Given the description of an element on the screen output the (x, y) to click on. 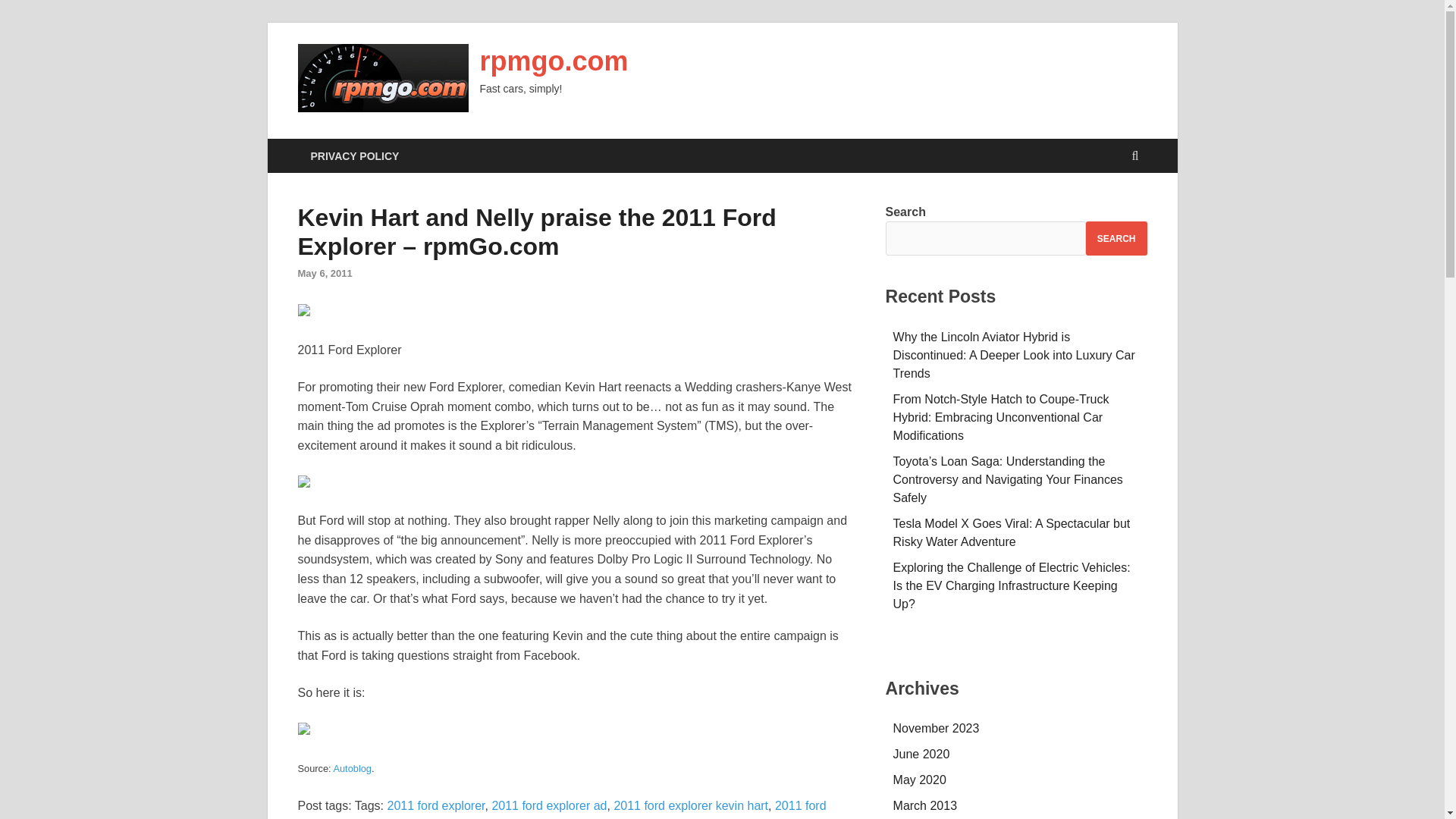
Autoblog (352, 767)
May 2020 (919, 779)
2011 ford explorer (435, 805)
November 2023 (936, 727)
June 2020 (921, 753)
rpmgo.com (553, 60)
May 6, 2011 (324, 273)
PRIVACY POLICY (354, 155)
March 2013 (925, 805)
2011 ford explorer ad (549, 805)
2011 ford explorer nelly (561, 809)
2011 ford explorer kevin hart (690, 805)
